Given the description of an element on the screen output the (x, y) to click on. 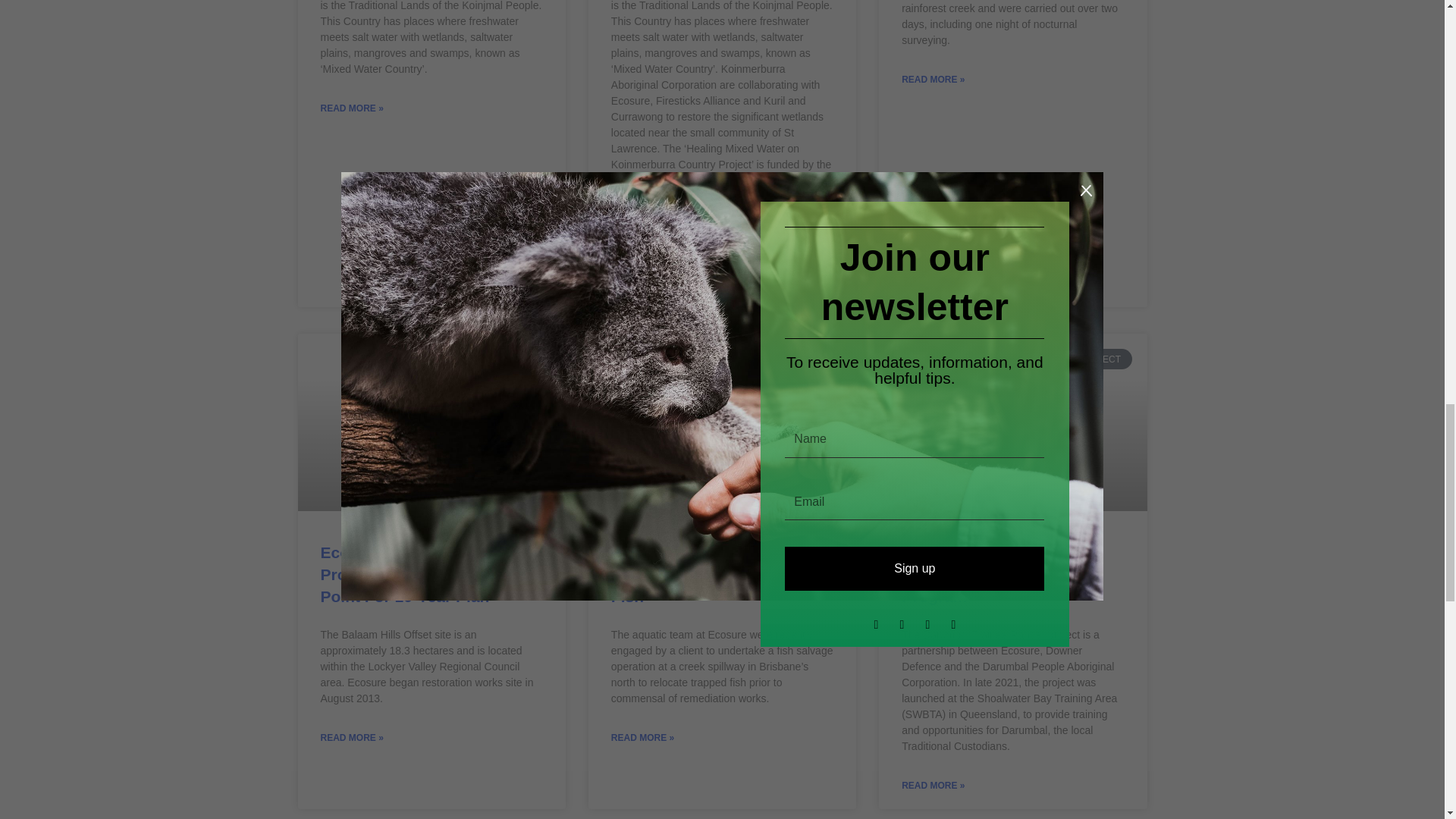
Projects 14 (429, 419)
Projects 18 (1010, 419)
Projects 16 (720, 419)
